Given the description of an element on the screen output the (x, y) to click on. 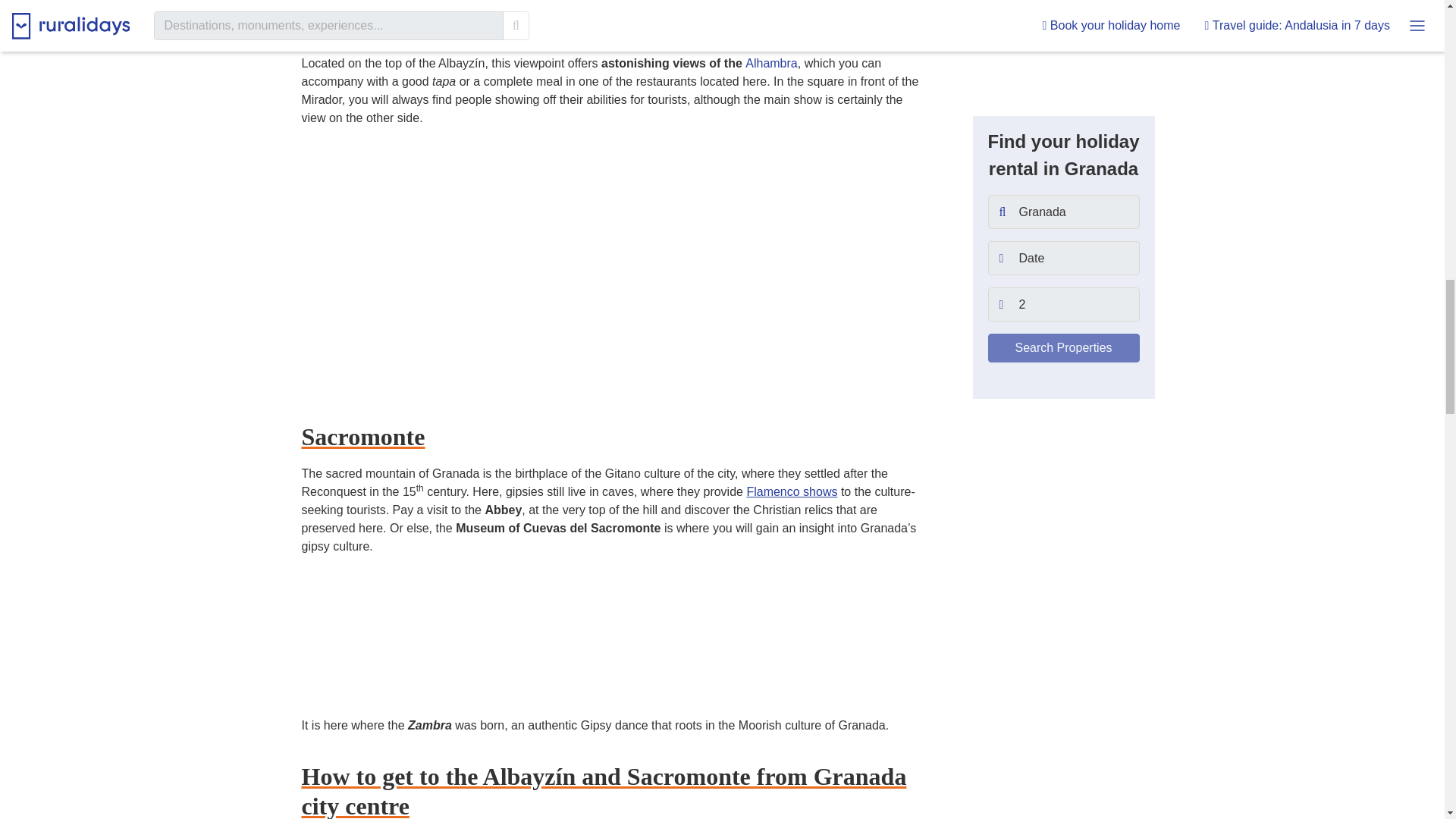
Flamenco shows (791, 491)
Alhambra (770, 62)
